Given the description of an element on the screen output the (x, y) to click on. 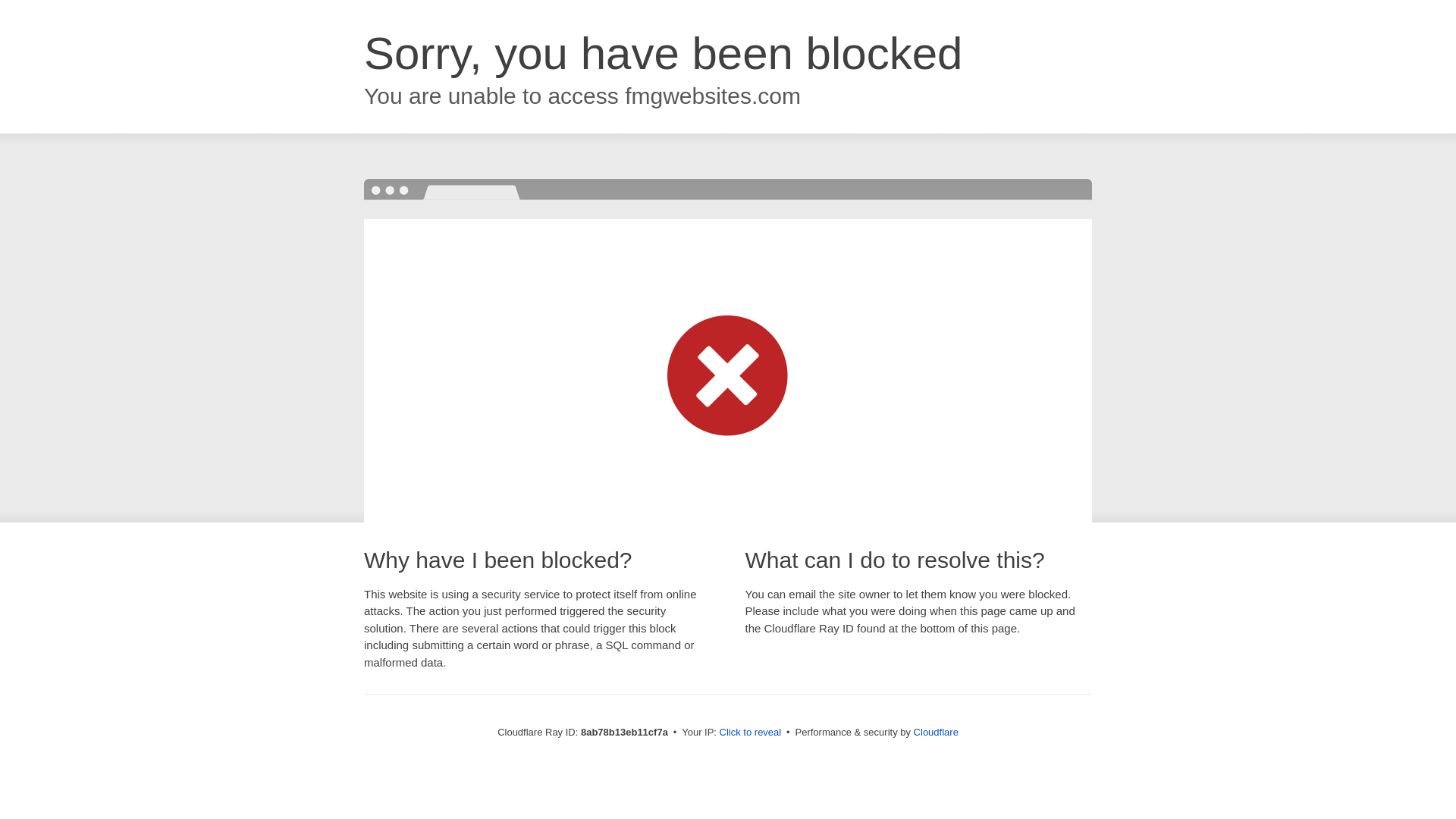
Click to reveal (750, 732)
Cloudflare (936, 731)
